Given the description of an element on the screen output the (x, y) to click on. 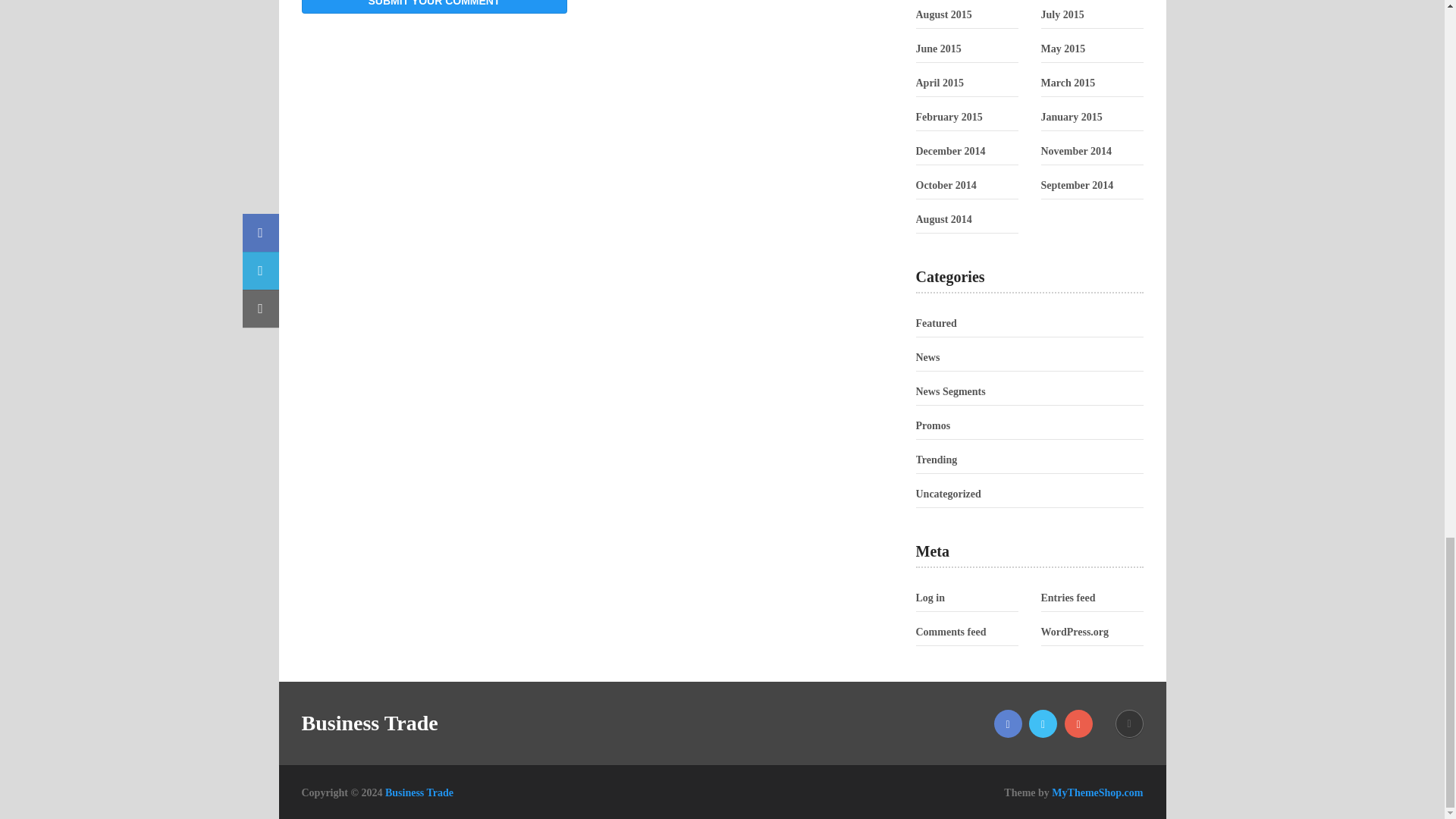
Submit Your Comment (434, 6)
Submit Your Comment (434, 6)
